Given the description of an element on the screen output the (x, y) to click on. 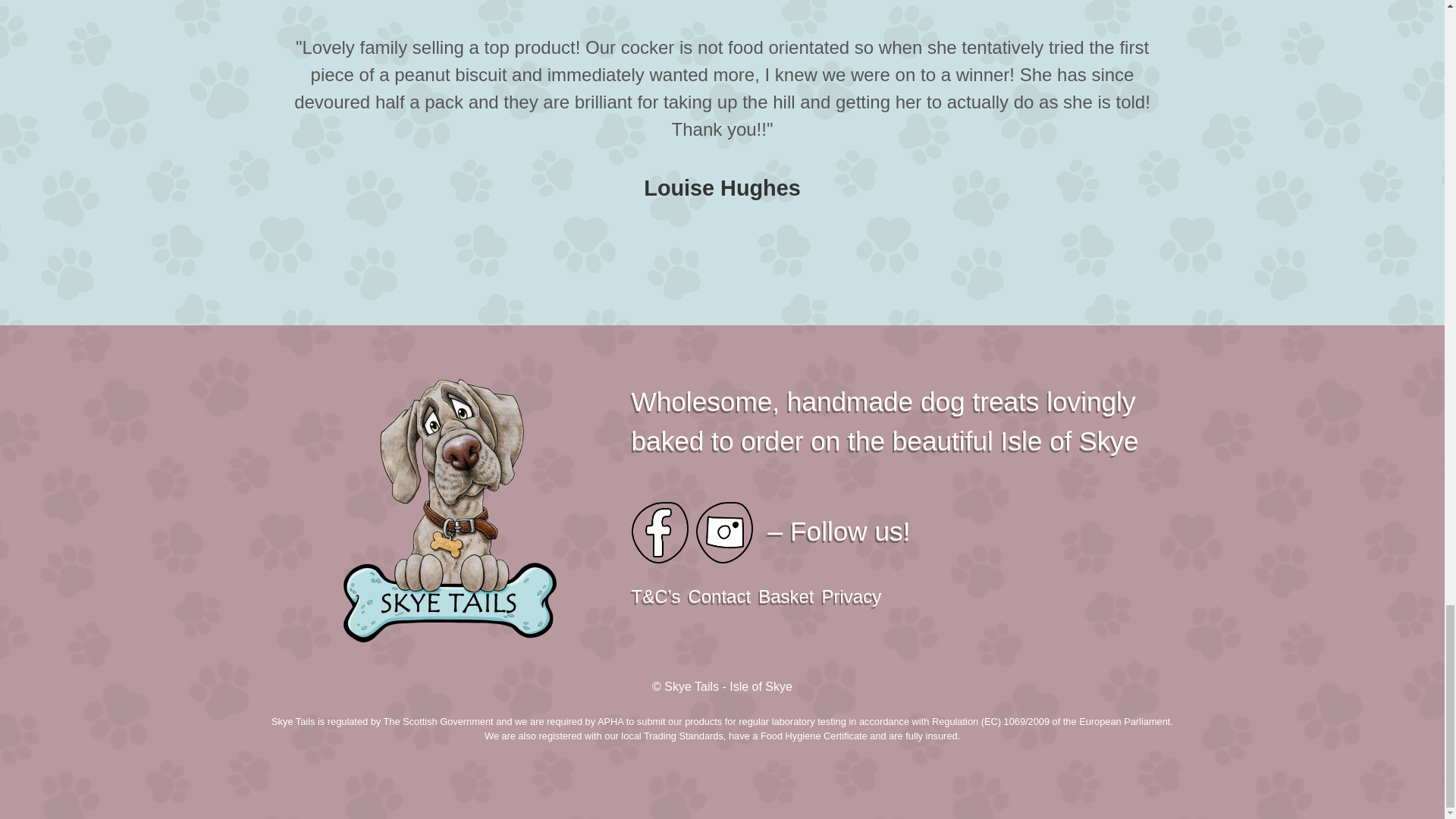
Basket (785, 596)
Contact (719, 596)
Privacy (852, 596)
